Given the description of an element on the screen output the (x, y) to click on. 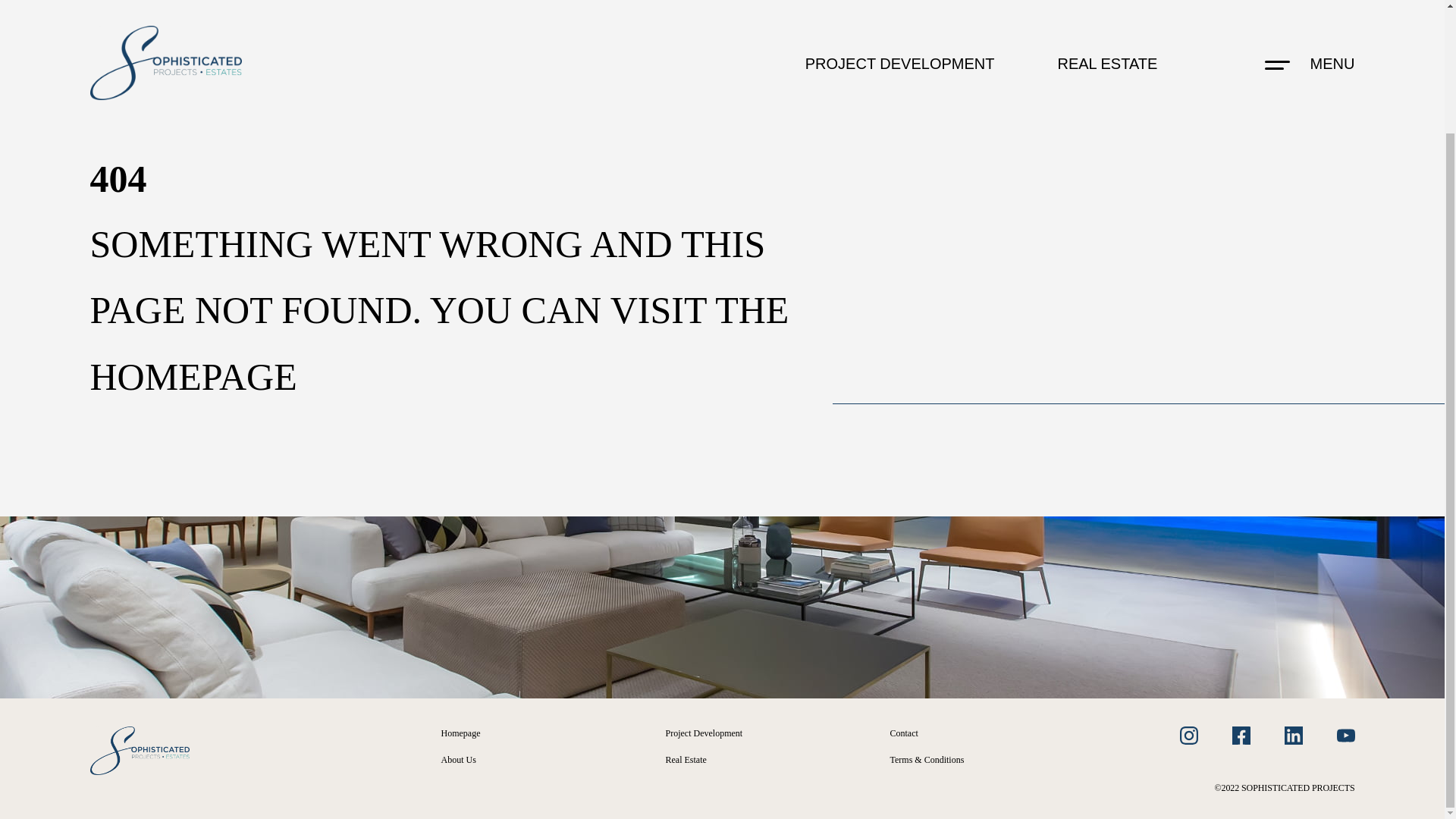
About Us (458, 759)
SEARCH (721, 168)
Contact (903, 733)
Homepage (460, 733)
Project Development (703, 733)
Real Estate (685, 759)
